Given the description of an element on the screen output the (x, y) to click on. 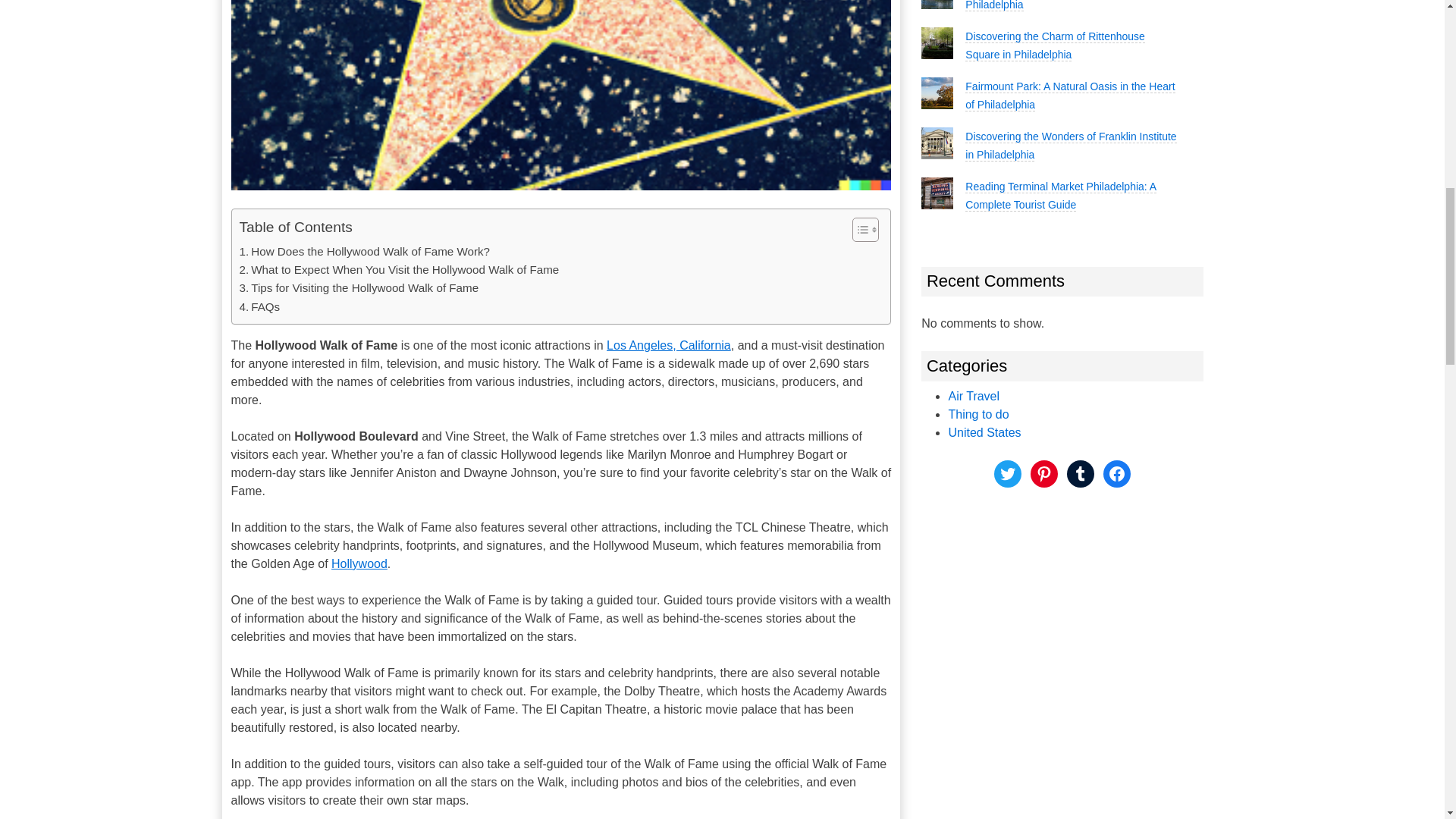
Tips for Visiting the Hollywood Walk of Fame (359, 288)
Tips for Visiting the Hollywood Walk of Fame (359, 288)
FAQs (260, 307)
How Does the Hollywood Walk of Fame Work? (365, 251)
Discovering the Charm of Franklin Square in Philadelphia (1069, 5)
FAQs (260, 307)
What to Expect When You Visit the Hollywood Walk of Fame (399, 270)
Discovering the Charm of Rittenhouse Square in Philadelphia (1054, 45)
Hollywood Walk of Fame (560, 95)
Fairmount Park: A Natural Oasis in the Heart of Philadelphia (1069, 95)
Hollywood (359, 563)
How Does the Hollywood Walk of Fame Work? (365, 251)
Los Angeles, California (668, 345)
What to Expect When You Visit the Hollywood Walk of Fame (399, 270)
